Given the description of an element on the screen output the (x, y) to click on. 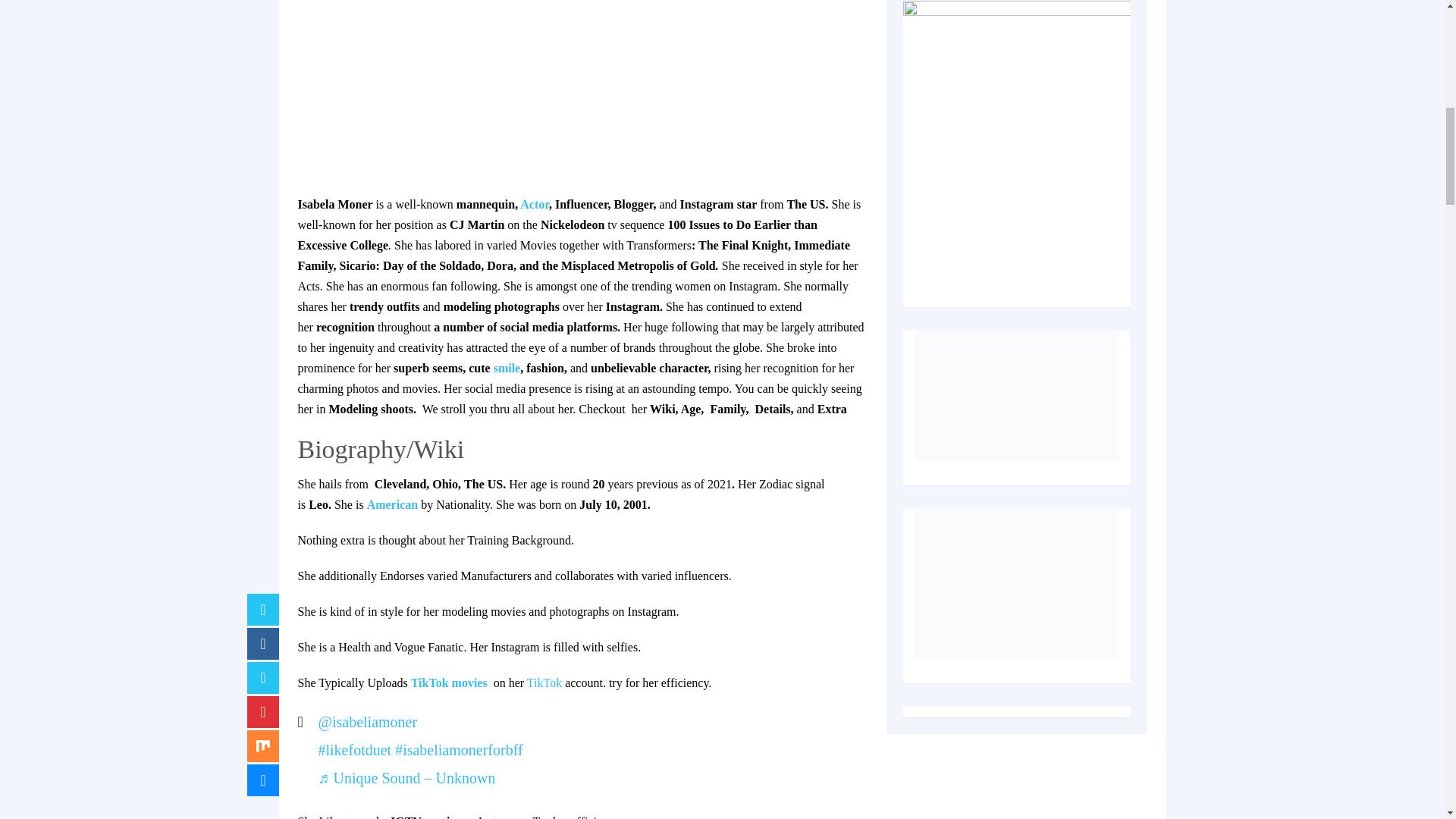
Sam Asghari wiki (533, 204)
TikTok (544, 682)
isabeliamonerforbff (458, 750)
Carlos Ponce Wiki (392, 504)
American (392, 504)
Joanna Page Wiki (507, 367)
TikTok movies (451, 682)
Laura Gaspar Wiki (544, 682)
Actor (533, 204)
smile (507, 367)
likefotduet (354, 750)
